Given the description of an element on the screen output the (x, y) to click on. 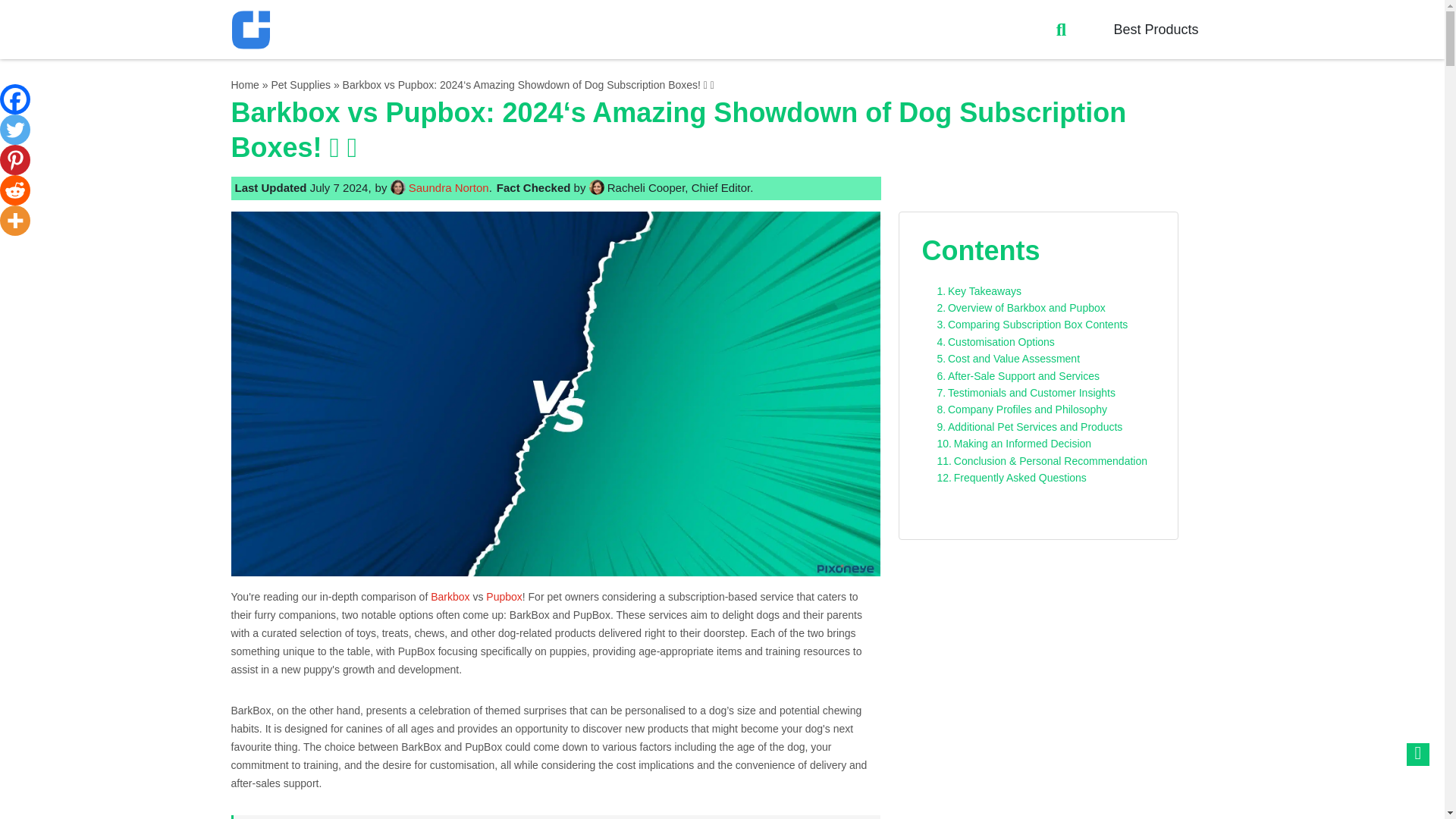
Twitter (15, 129)
Reddit (15, 190)
Posts by Saundra Norton (449, 187)
Pupbox (503, 596)
Saundra Norton (449, 187)
Best Products (1162, 29)
Pet Supplies (300, 84)
Facebook (15, 99)
Barkbox (449, 596)
Pinterest (15, 159)
